Given the description of an element on the screen output the (x, y) to click on. 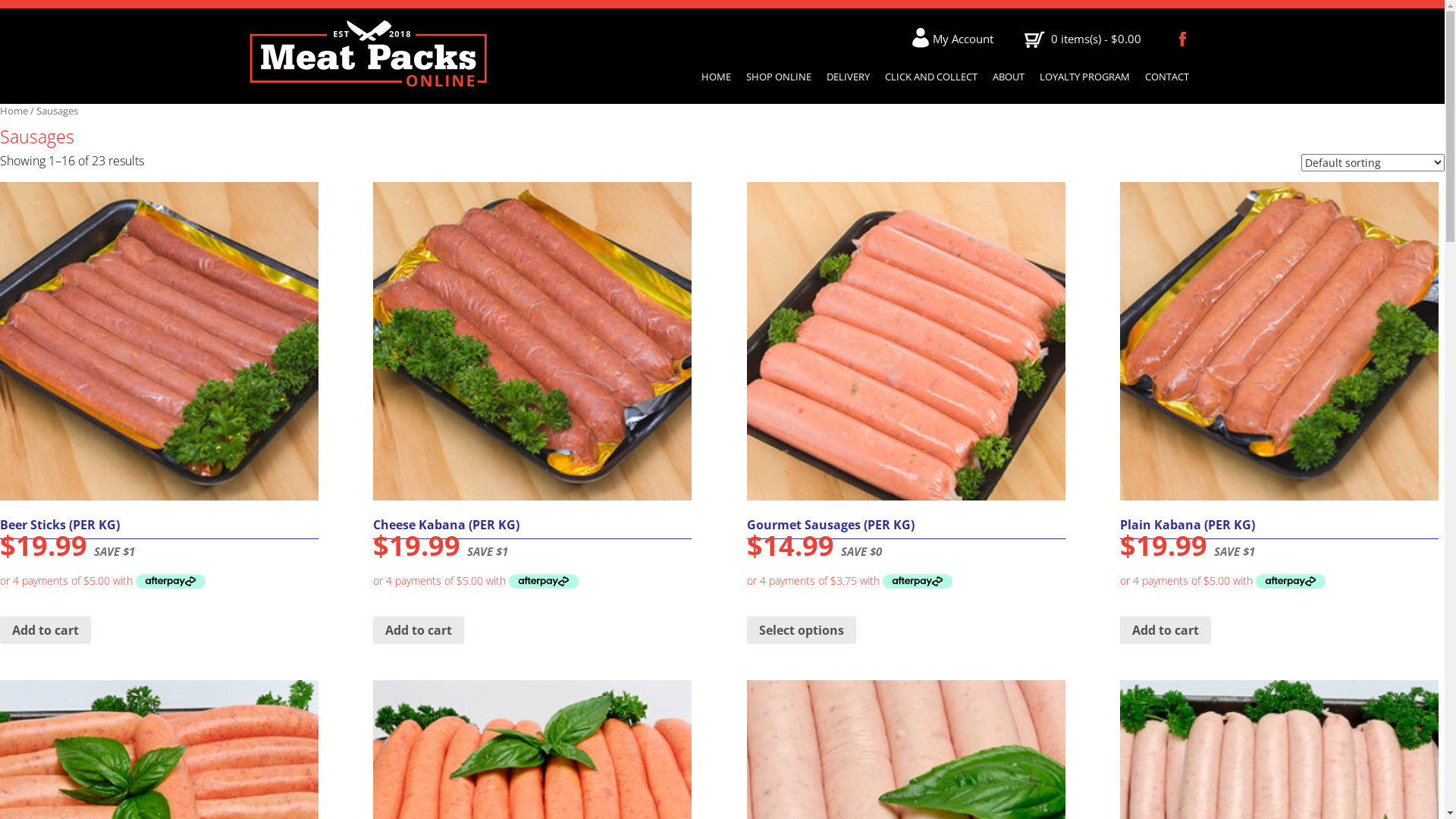
LOYALTY PROGRAM Element type: text (1083, 76)
Add to cart Element type: text (45, 629)
0 items(s) - $0.00 Element type: text (1082, 38)
Add to cart Element type: text (1165, 629)
FB Element type: text (1184, 39)
CLICK AND COLLECT Element type: text (930, 76)
My Account Element type: text (953, 38)
Home Element type: text (14, 110)
HOME Element type: text (715, 76)
ABOUT Element type: text (1007, 76)
DELIVERY Element type: text (847, 76)
SHOP ONLINE Element type: text (778, 76)
Select options Element type: text (801, 629)
CONTACT Element type: text (1167, 76)
Add to cart Element type: text (418, 629)
